Given the description of an element on the screen output the (x, y) to click on. 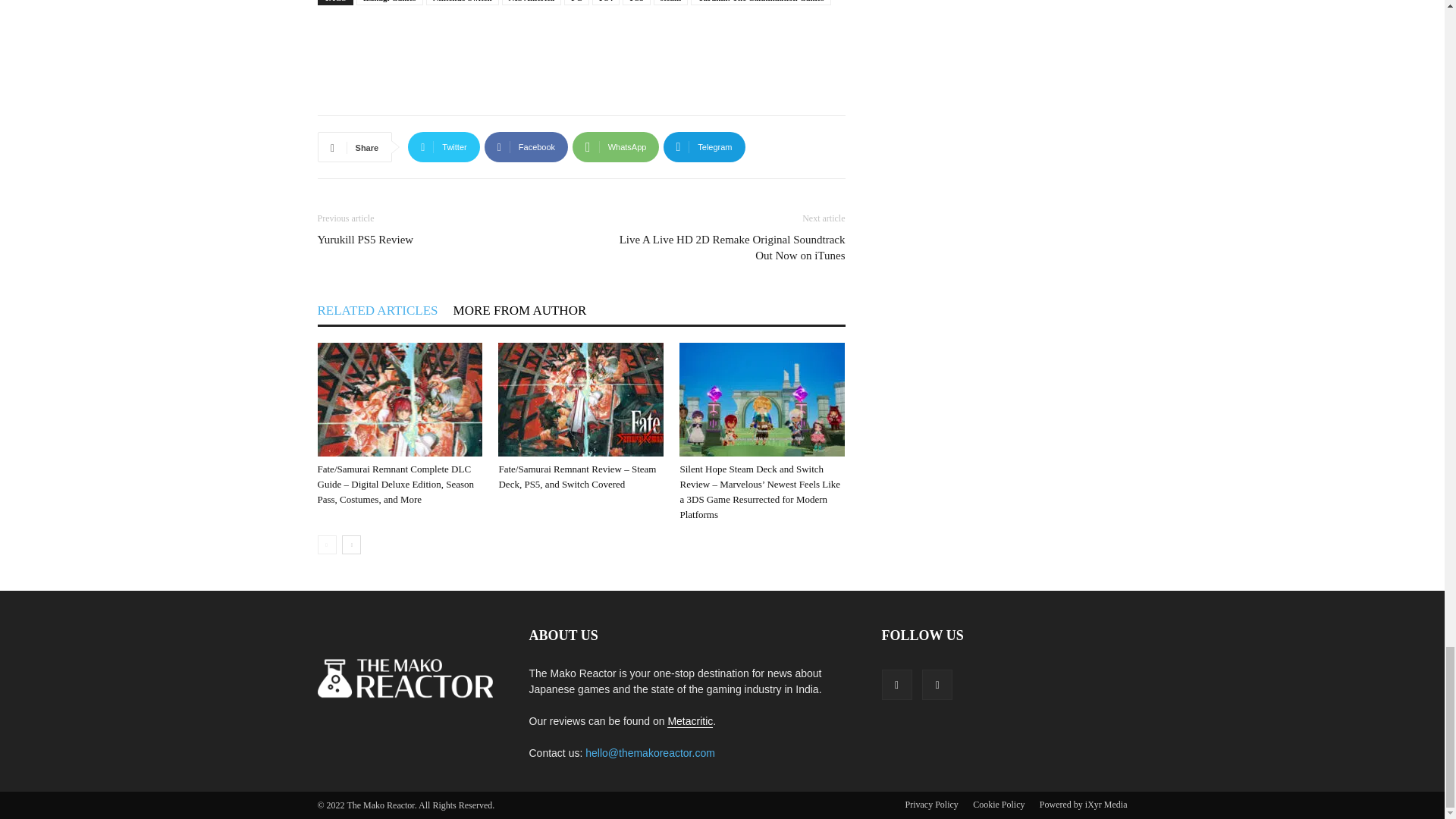
NIS America (532, 2)
PC (576, 2)
Twitter (443, 146)
WhatsApp (615, 146)
Facebook (525, 146)
Nintendo Switch (462, 2)
Telegram (703, 146)
PS4 (606, 2)
Izanagi Games (389, 2)
